Given the description of an element on the screen output the (x, y) to click on. 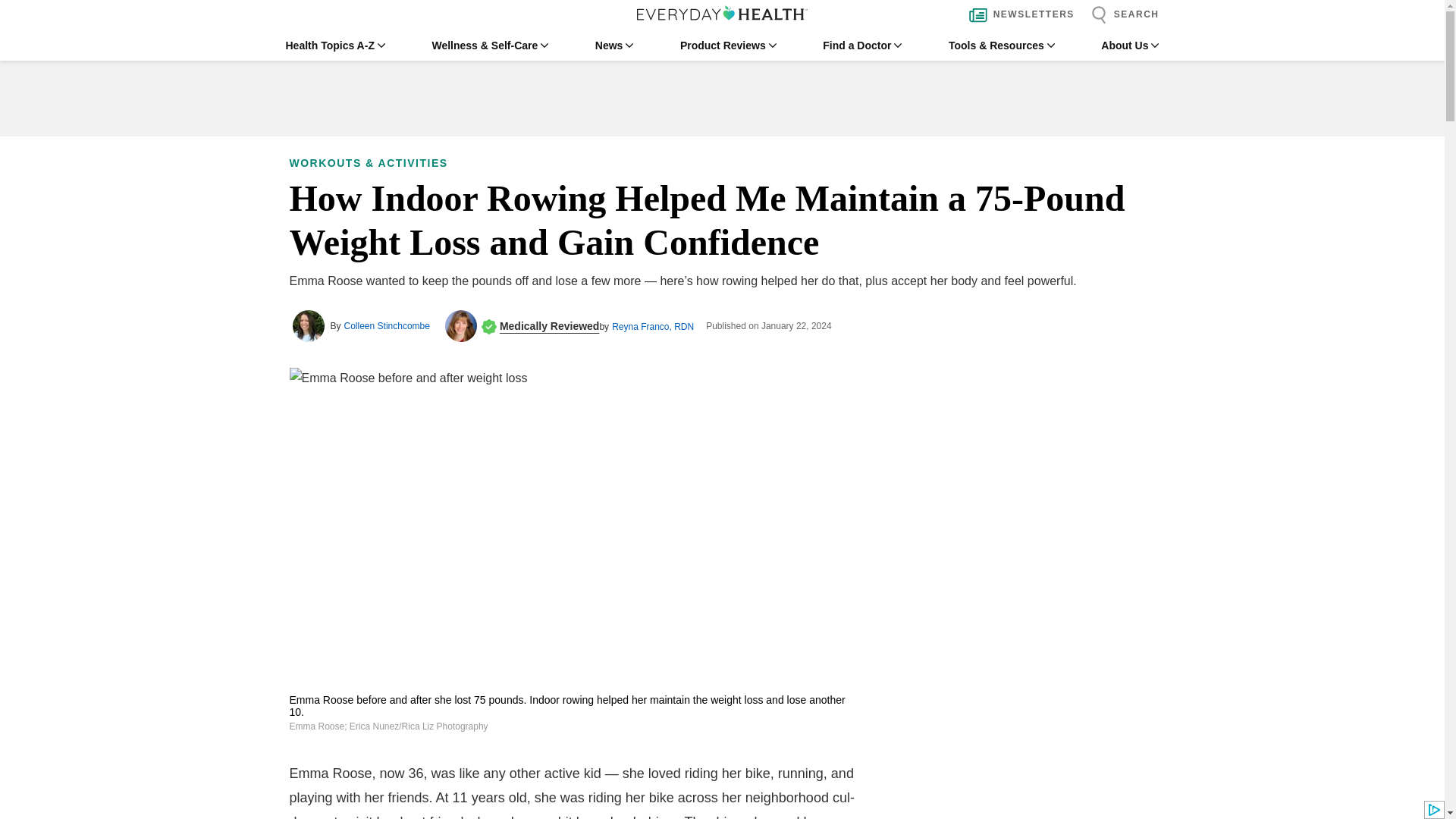
SEARCH (1120, 15)
About Us (1129, 45)
Product Reviews (727, 45)
NEWSLETTERS (1018, 15)
Find a Doctor (861, 45)
Health Topics A-Z (334, 45)
News (614, 45)
